Given the description of an element on the screen output the (x, y) to click on. 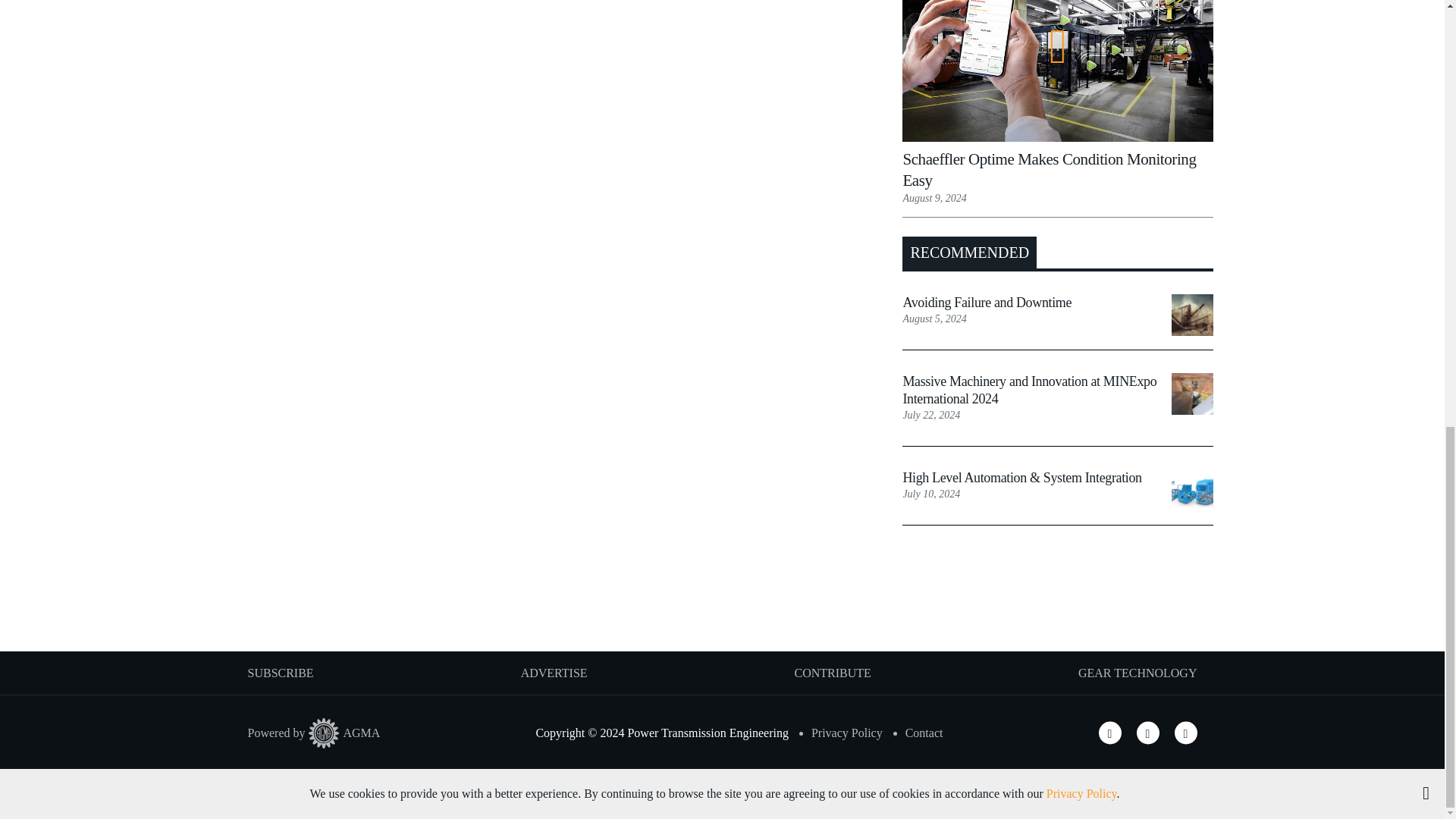
Regal-Mining.jpg (1192, 393)
ZF.jpg (1192, 490)
3rd party ad content (721, 602)
